Given the description of an element on the screen output the (x, y) to click on. 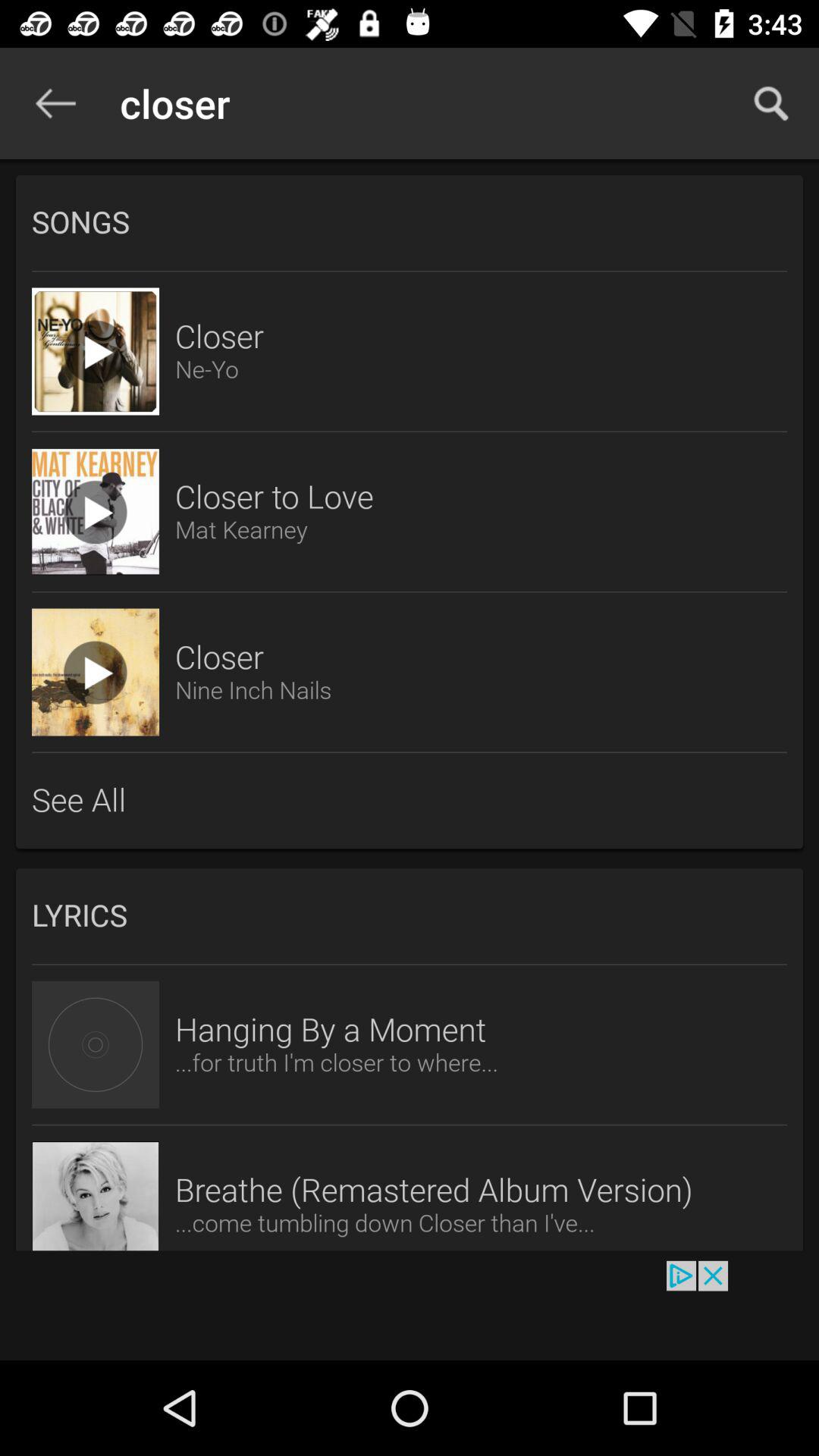
jump to see all (409, 800)
